Given the description of an element on the screen output the (x, y) to click on. 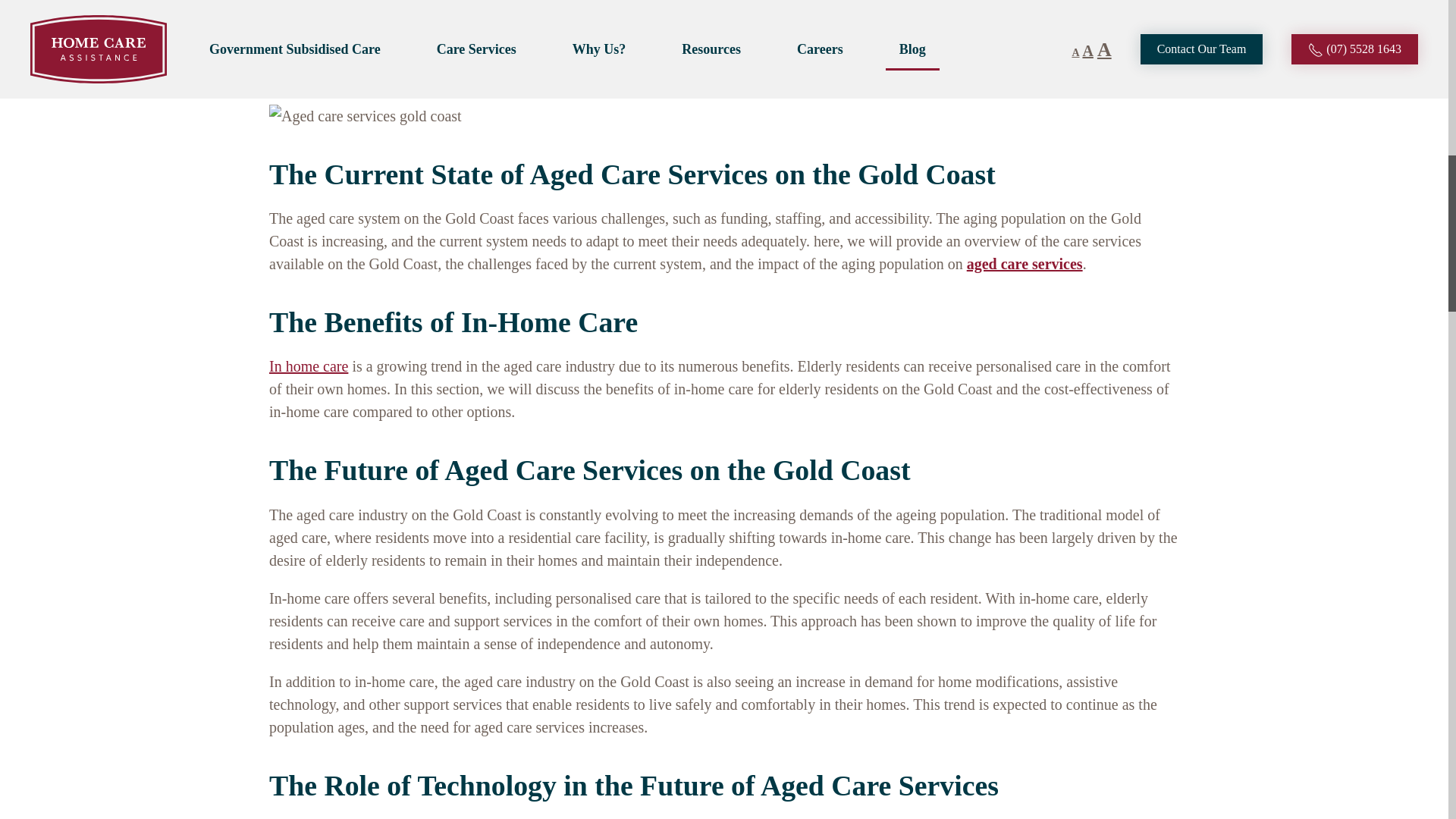
Aged Care Services (1024, 263)
In home care (308, 365)
